Given the description of an element on the screen output the (x, y) to click on. 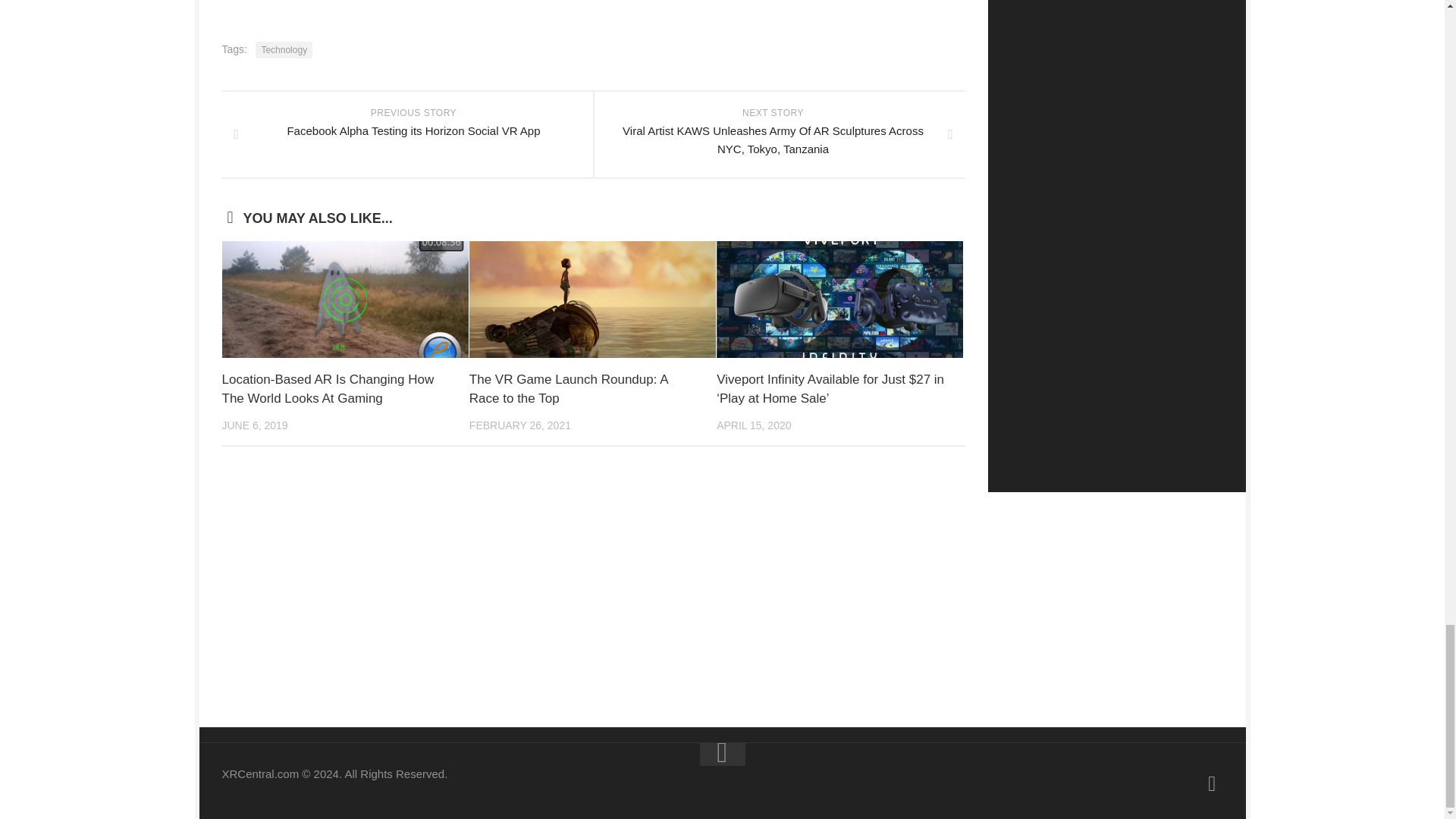
Technology (284, 49)
Twitter (1212, 783)
Location-Based AR Is Changing How The World Looks At Gaming (327, 389)
The VR Game Launch Roundup: A Race to the Top (568, 389)
